Given the description of an element on the screen output the (x, y) to click on. 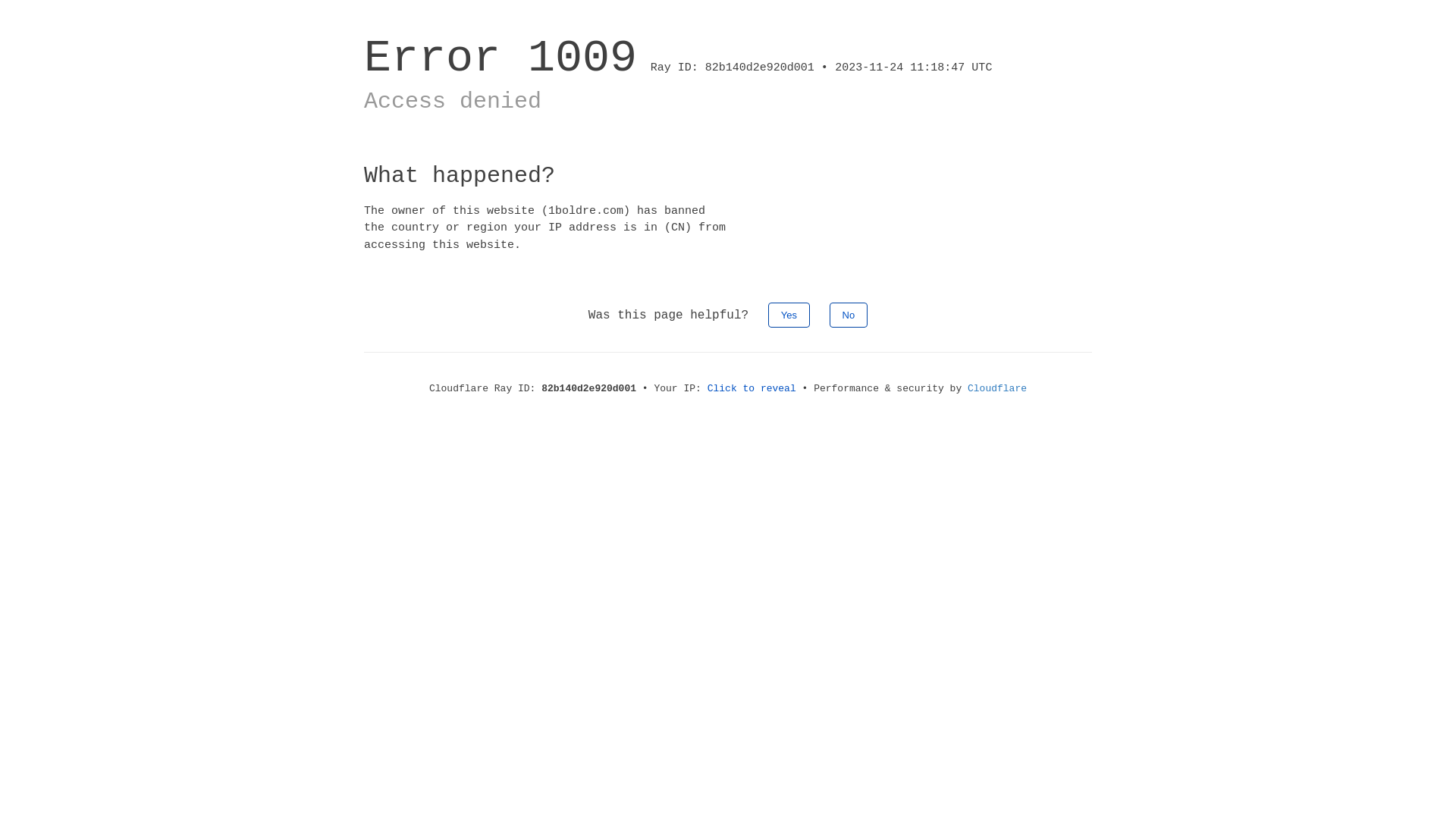
No Element type: text (848, 314)
Click to reveal Element type: text (751, 388)
Yes Element type: text (788, 314)
Cloudflare Element type: text (996, 388)
